Given the description of an element on the screen output the (x, y) to click on. 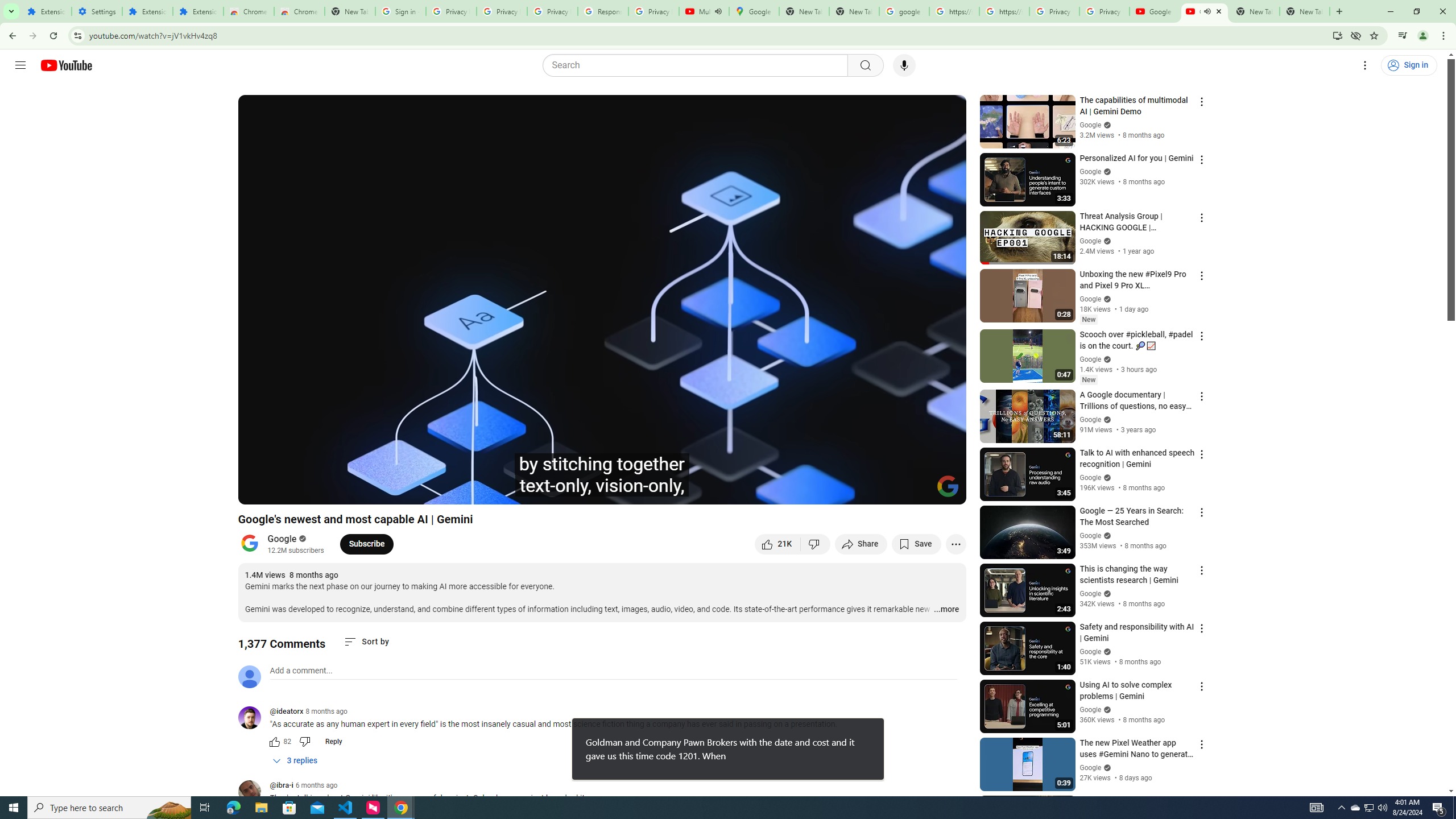
Seek slider (601, 476)
Save to playlist (915, 543)
YouTube Home (66, 65)
Mute keyboard shortcut m (312, 490)
Play (k) (257, 490)
